Given the description of an element on the screen output the (x, y) to click on. 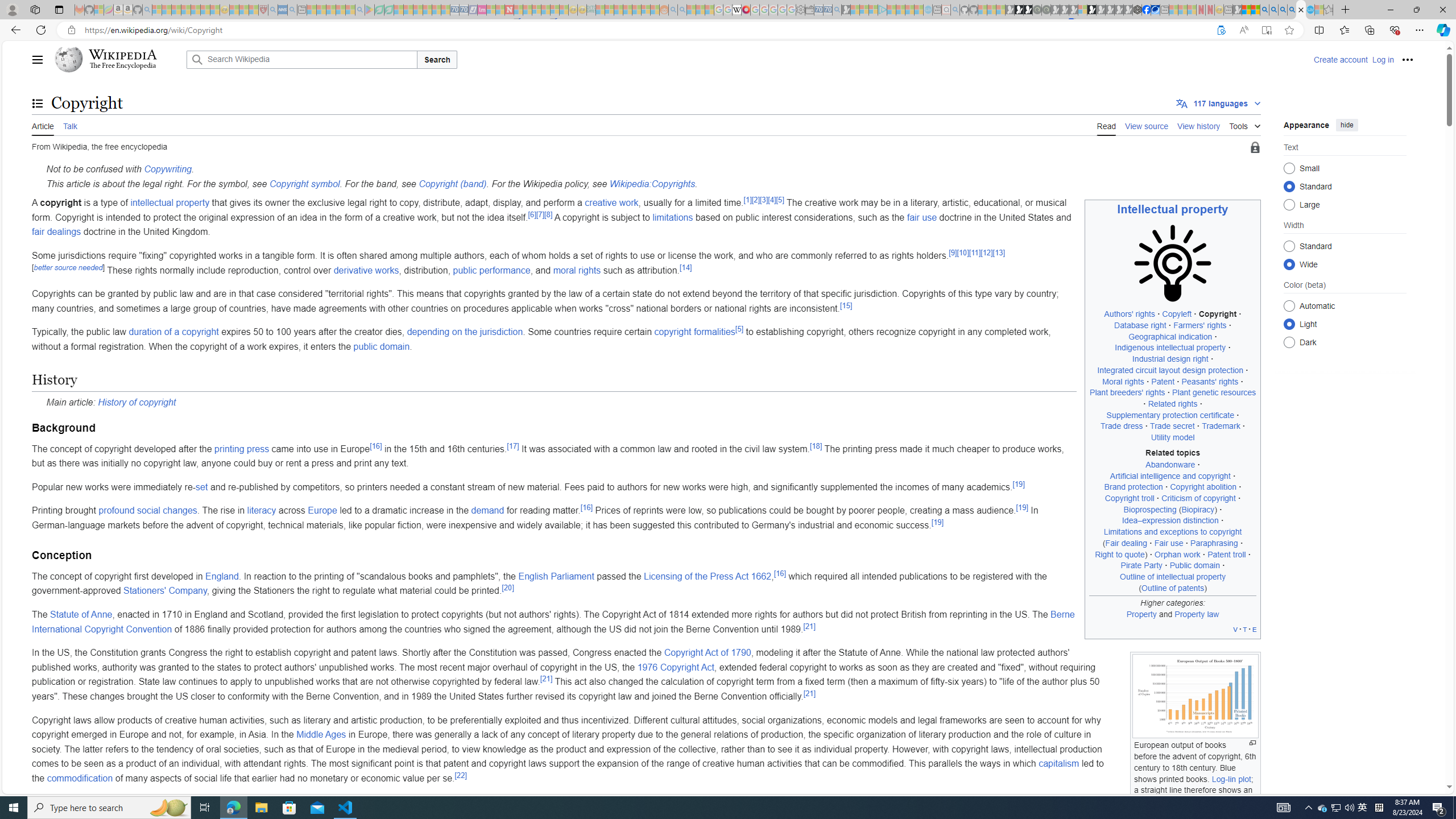
To get missing image descriptions, open the context menu. (1172, 263)
Pirate Party (1142, 565)
Trademark (1220, 425)
New Report Confirms 2023 Was Record Hot | Watch - Sleeping (195, 9)
creative work (612, 203)
Moral rights (1123, 381)
Utility model (1172, 437)
Geographical indication (1170, 336)
